Given the description of an element on the screen output the (x, y) to click on. 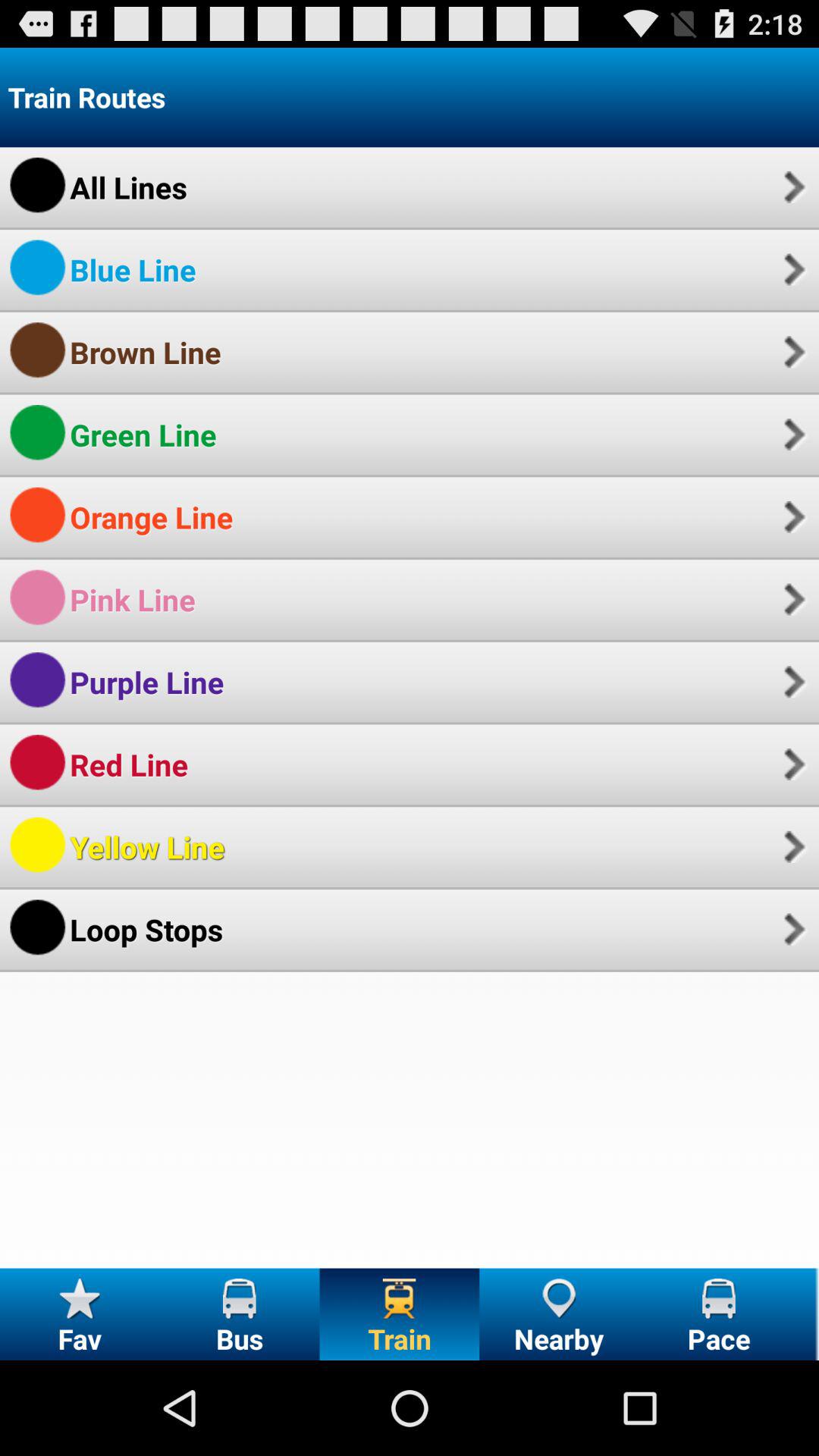
turn off purple line (146, 682)
